Given the description of an element on the screen output the (x, y) to click on. 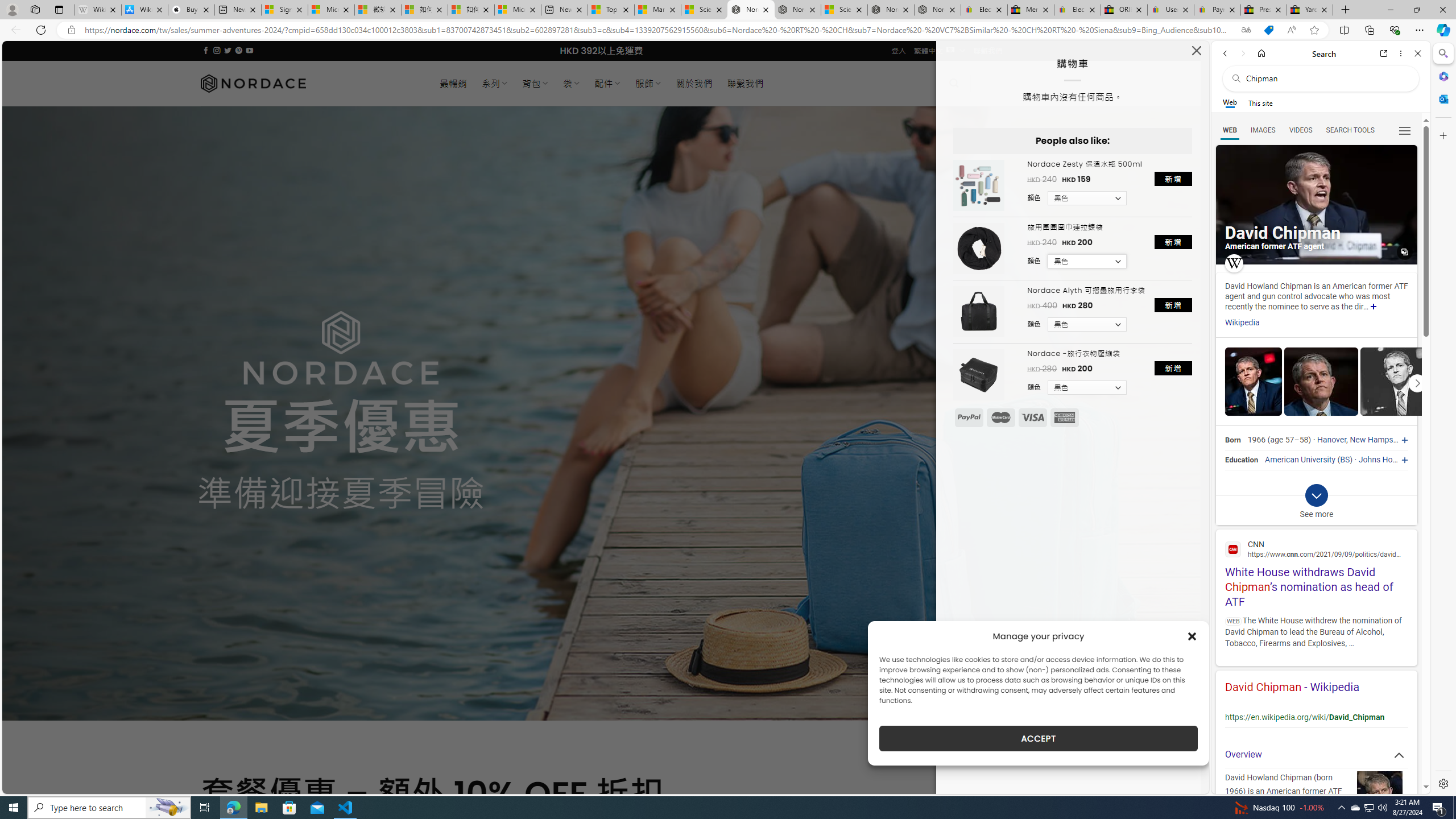
Electronics, Cars, Fashion, Collectibles & More | eBay (1077, 9)
Back (1225, 53)
VIDEOS (1300, 130)
 0  (988, 83)
Address and search bar (658, 29)
Wikipedia (1241, 322)
Customize (1442, 135)
Preferences (1403, 129)
Born (1232, 439)
Search the web (1326, 78)
Nordace - Summer Adventures 2024 (890, 9)
Collections (1369, 29)
